Given the description of an element on the screen output the (x, y) to click on. 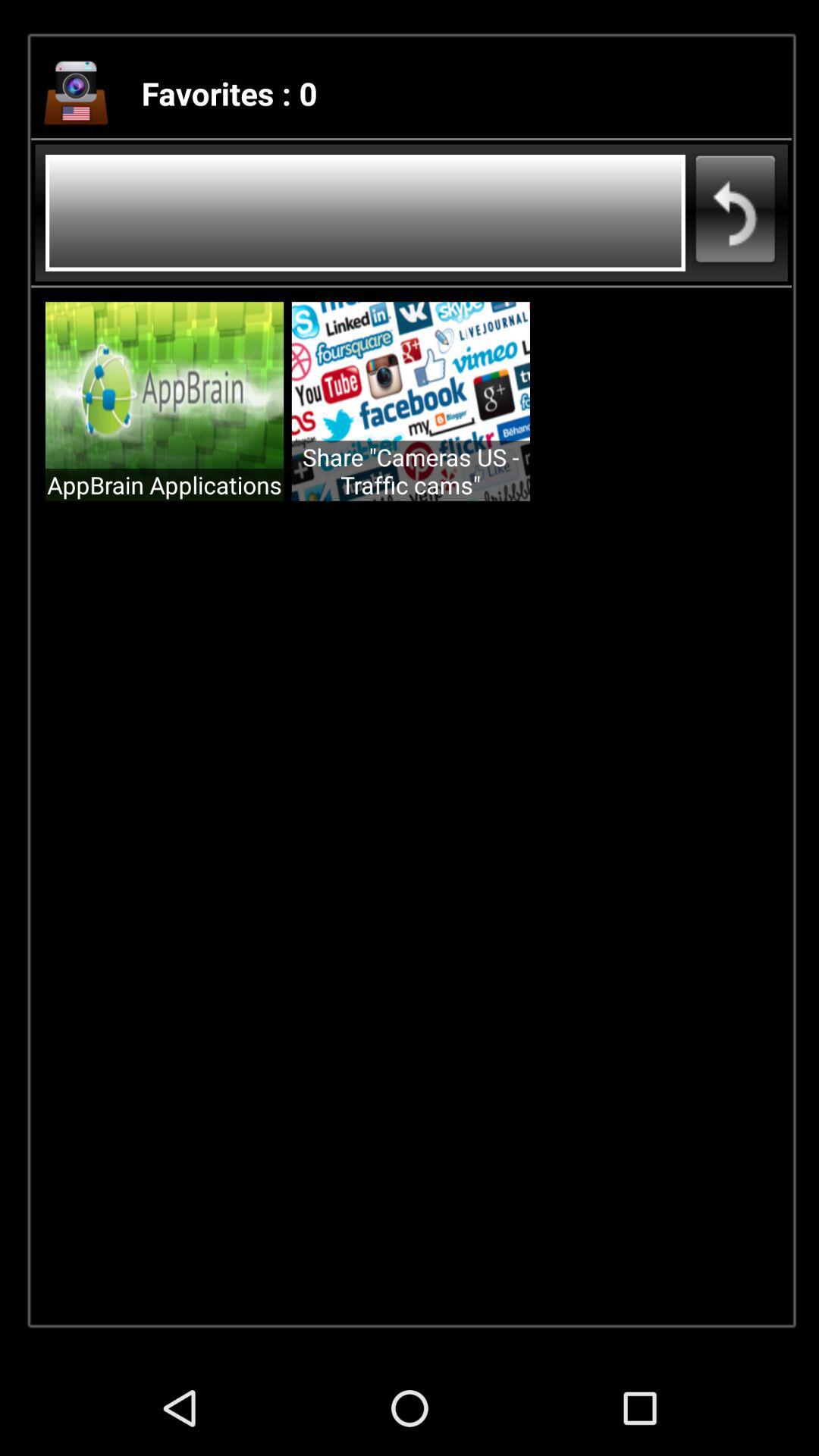
flip until the appbrain applications app (164, 484)
